Given the description of an element on the screen output the (x, y) to click on. 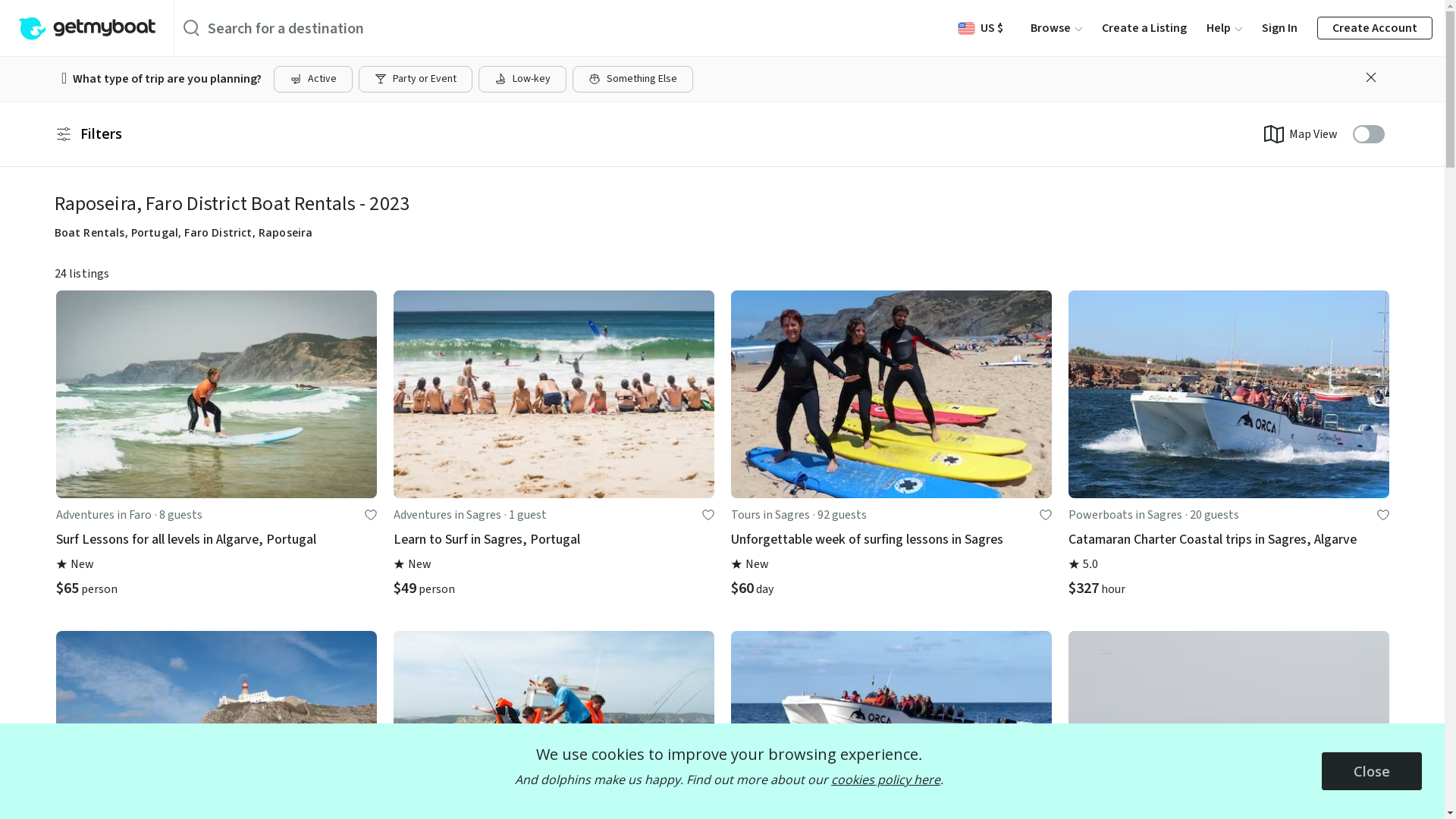
Sign In Element type: text (1279, 27)
Something Else Element type: text (632, 78)
Faro District Element type: text (217, 232)
Party or Event Element type: text (415, 78)
Low-key Element type: text (522, 78)
Create a Listing Element type: text (1143, 27)
cookies policy here Element type: text (885, 779)
Close Element type: text (1371, 771)
Filters Element type: text (87, 134)
Portugal Element type: text (154, 232)
Boat Rentals Element type: text (89, 232)
Active Element type: text (312, 78)
Browse Element type: text (1056, 27)
Create Account Element type: text (1374, 27)
Help Element type: text (1224, 27)
